Given the description of an element on the screen output the (x, y) to click on. 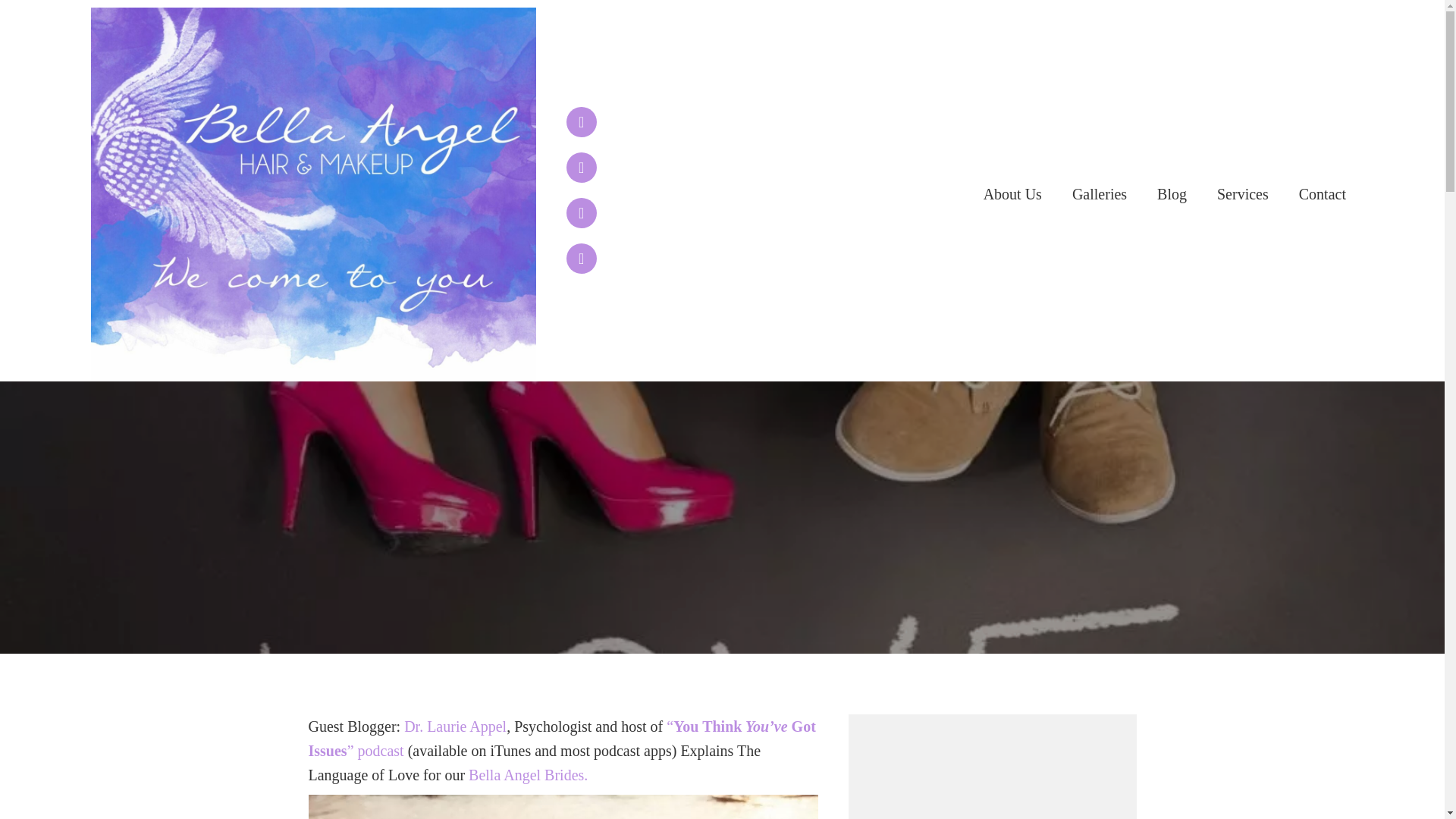
Galleries (1099, 193)
Bella Angel Brides. (528, 774)
Blog (1171, 193)
Dr. Laurie Appel (455, 726)
About Us (1012, 193)
Services (1242, 193)
Contact (1322, 193)
